Given the description of an element on the screen output the (x, y) to click on. 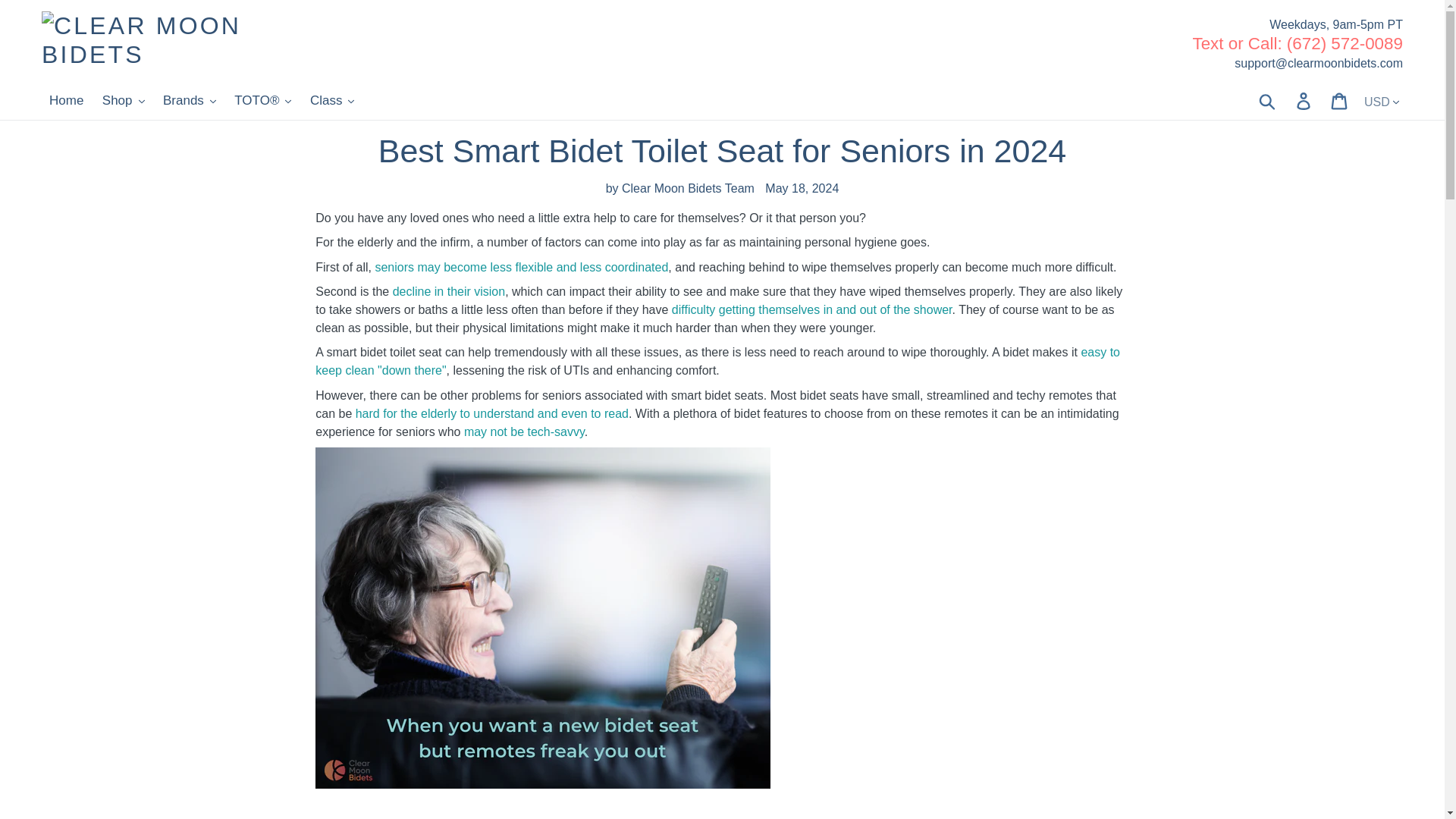
Home (66, 100)
